Given the description of an element on the screen output the (x, y) to click on. 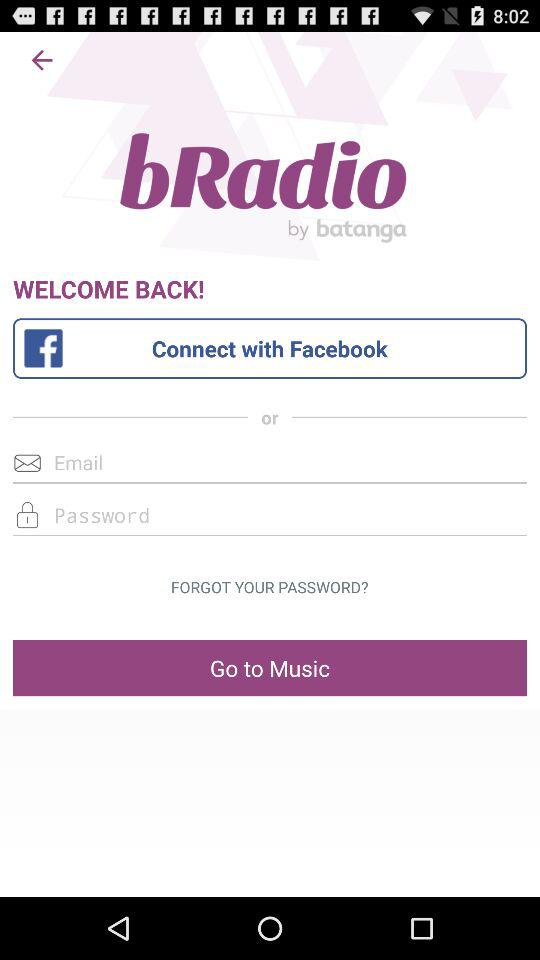
turn off go to music at the bottom (269, 667)
